Given the description of an element on the screen output the (x, y) to click on. 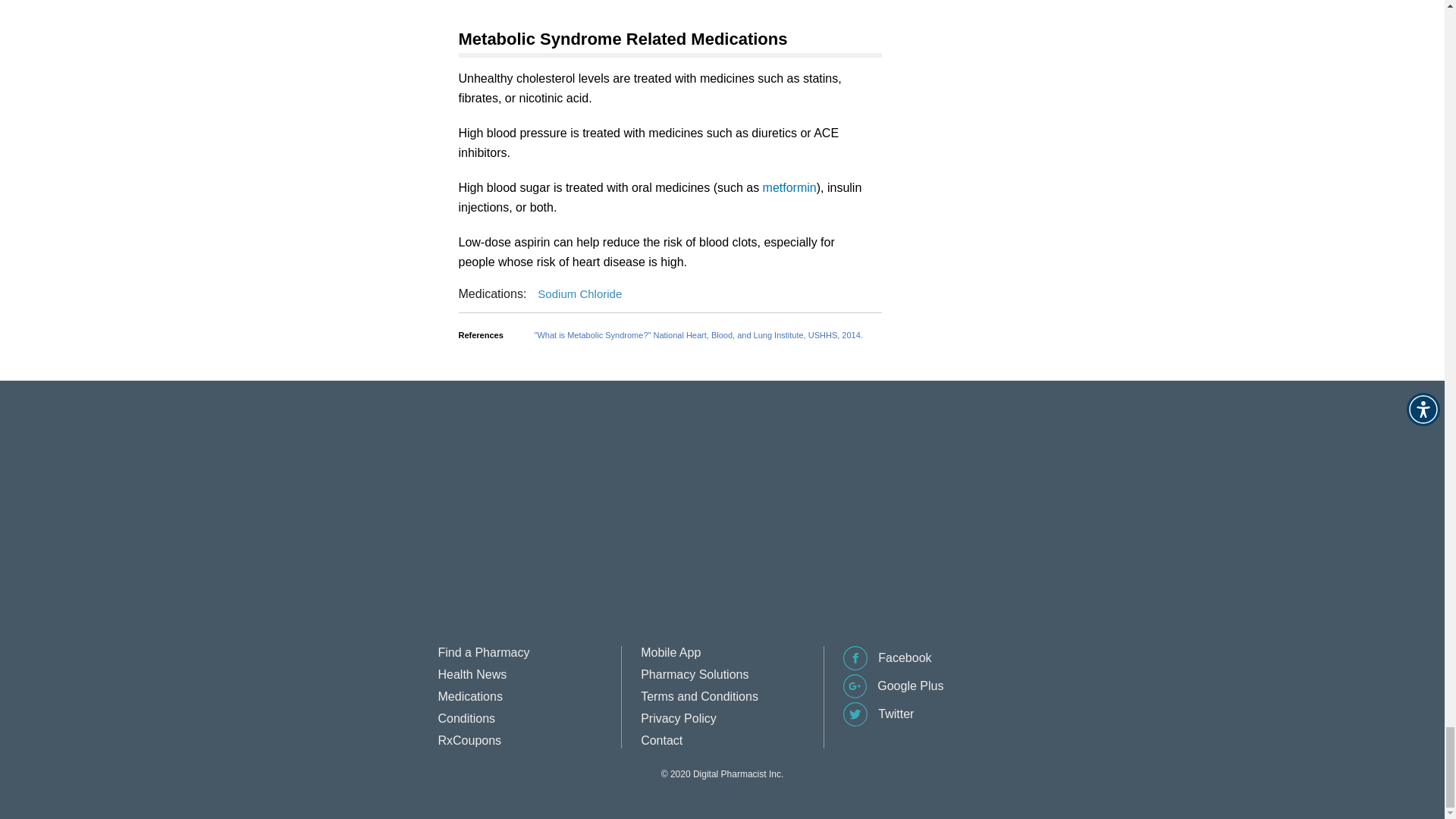
Sodium Chloride (579, 294)
metformin (789, 187)
Find a Pharmacy (483, 652)
